Given the description of an element on the screen output the (x, y) to click on. 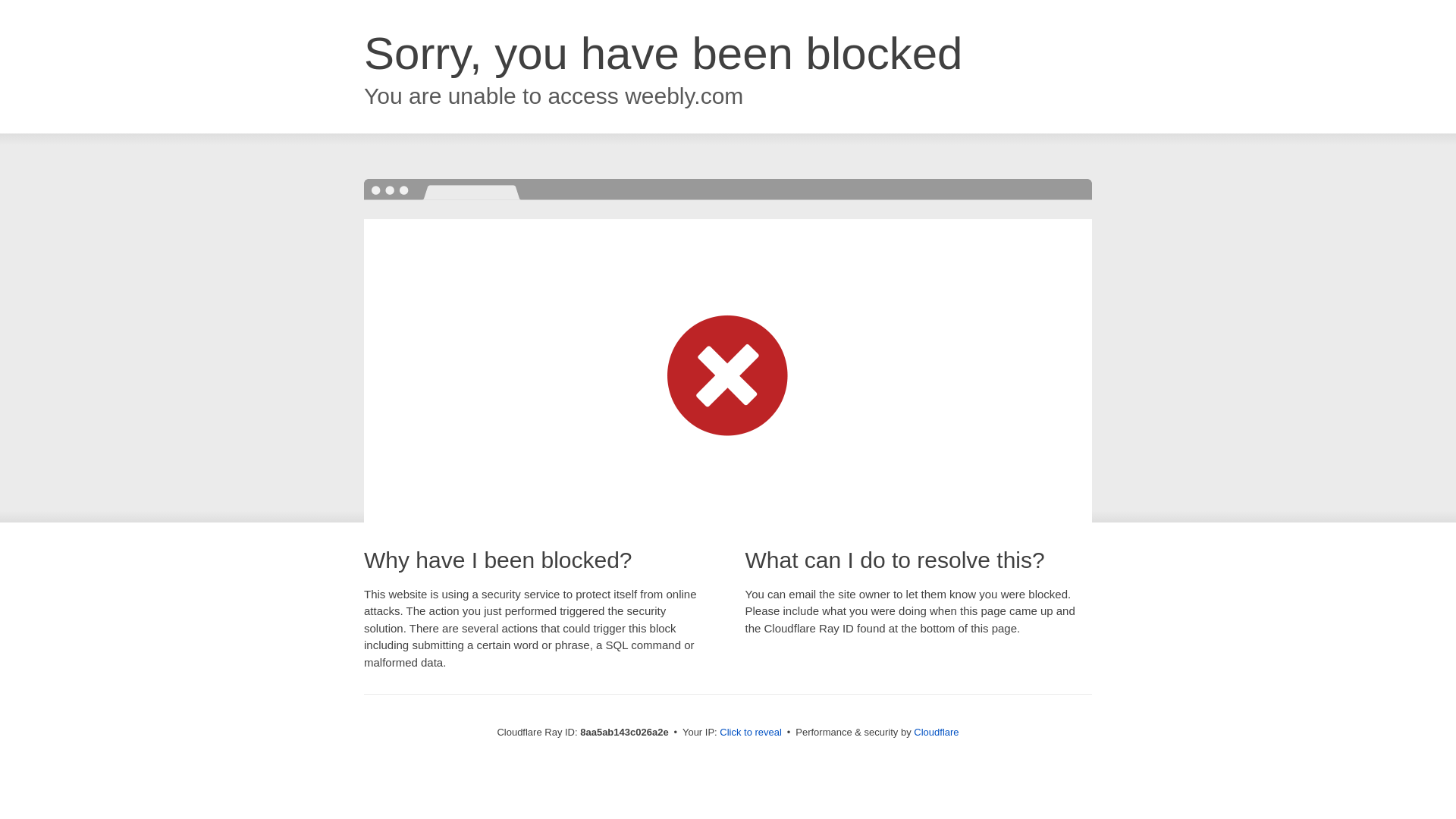
Click to reveal (750, 732)
Cloudflare (936, 731)
